Given the description of an element on the screen output the (x, y) to click on. 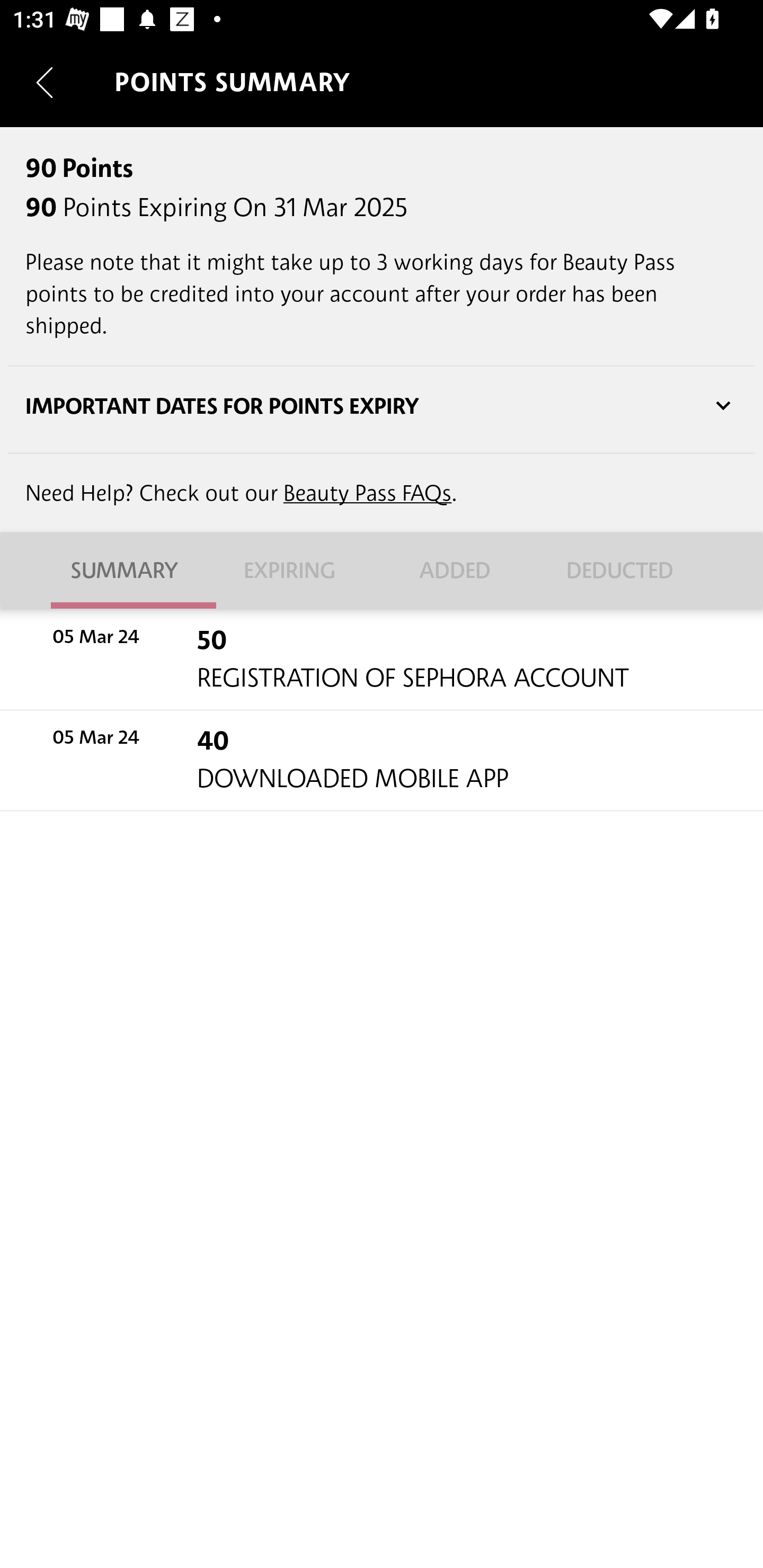
Navigate up (44, 82)
IMPORTANT DATES FOR POINTS EXPIRY (381, 406)
EXPIRING (298, 570)
ADDED (464, 570)
DEDUCTED (629, 570)
